Given the description of an element on the screen output the (x, y) to click on. 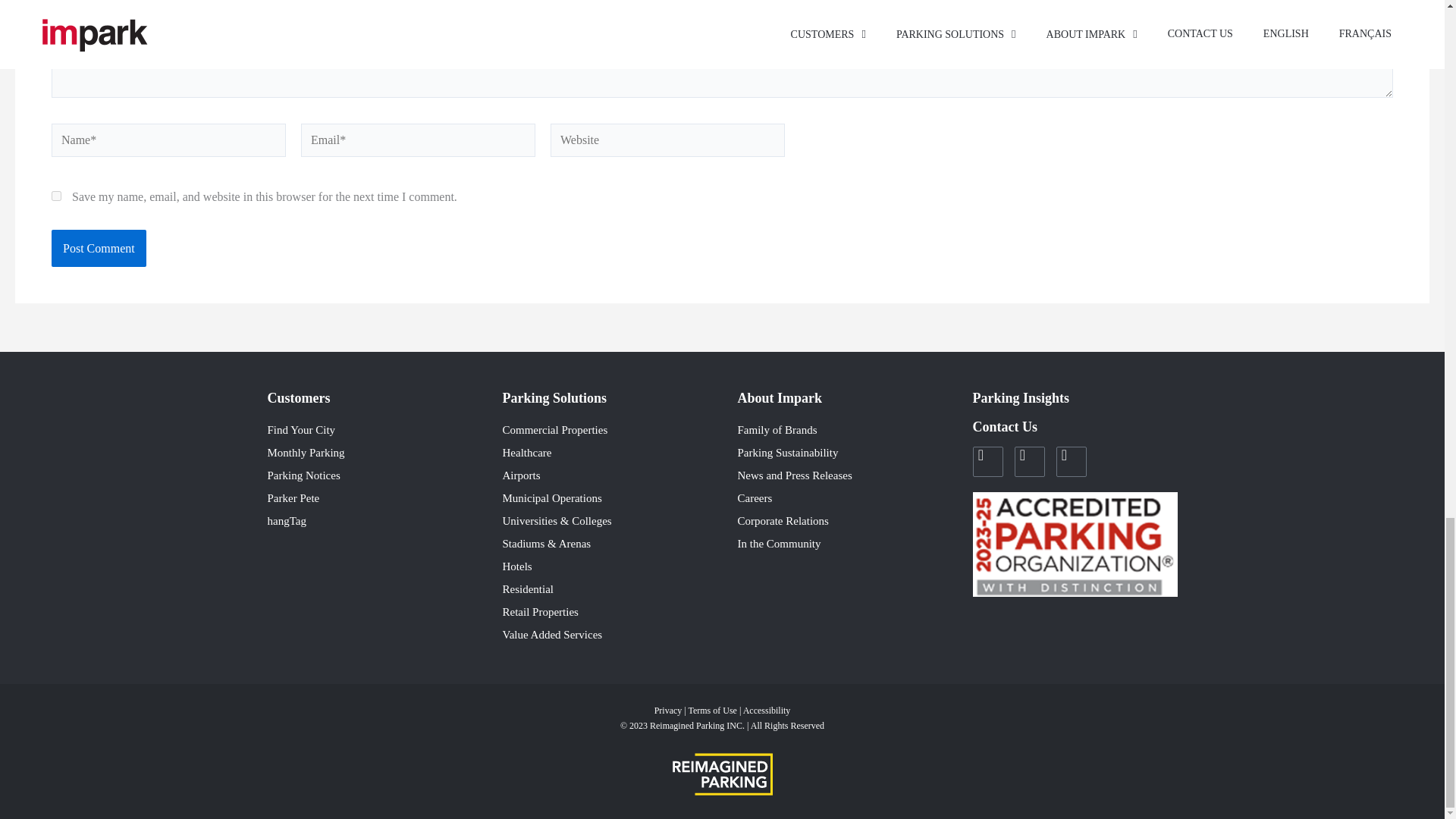
Customers (298, 397)
Post Comment (98, 248)
Post Comment (98, 248)
yes (55, 195)
